Given the description of an element on the screen output the (x, y) to click on. 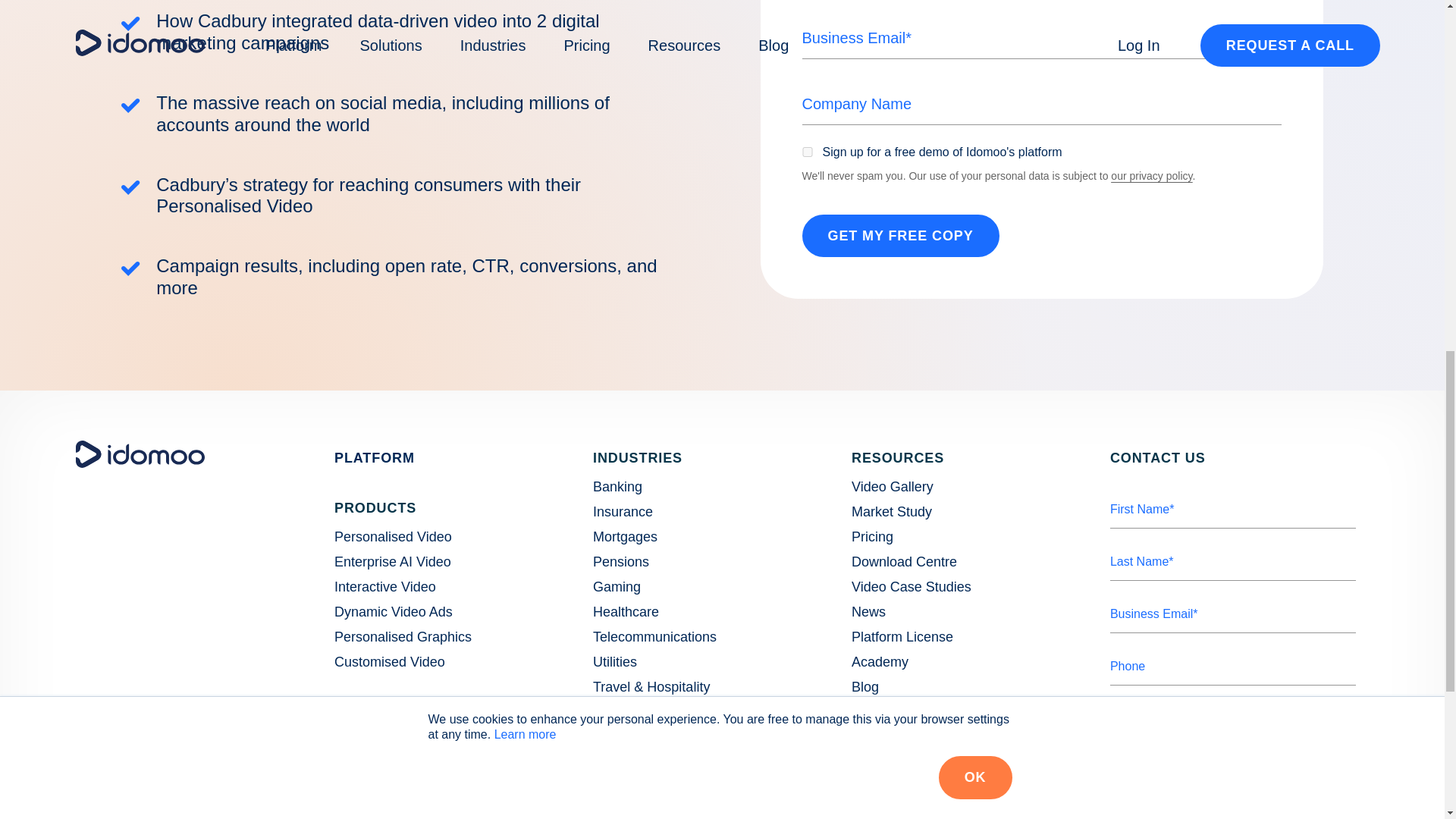
Send (1155, 812)
